Given the description of an element on the screen output the (x, y) to click on. 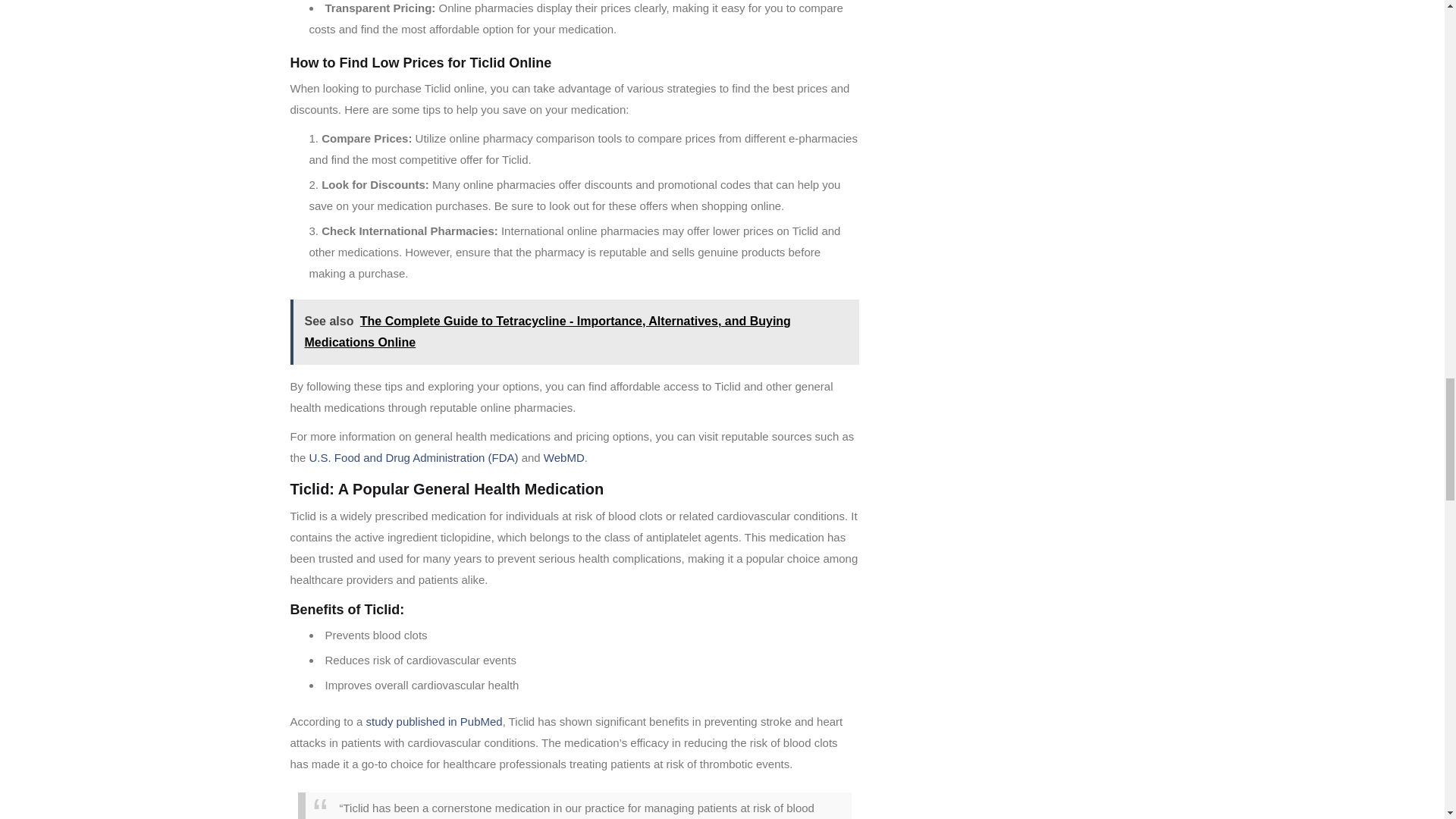
study published in PubMed (434, 721)
WebMD (564, 457)
